Given the description of an element on the screen output the (x, y) to click on. 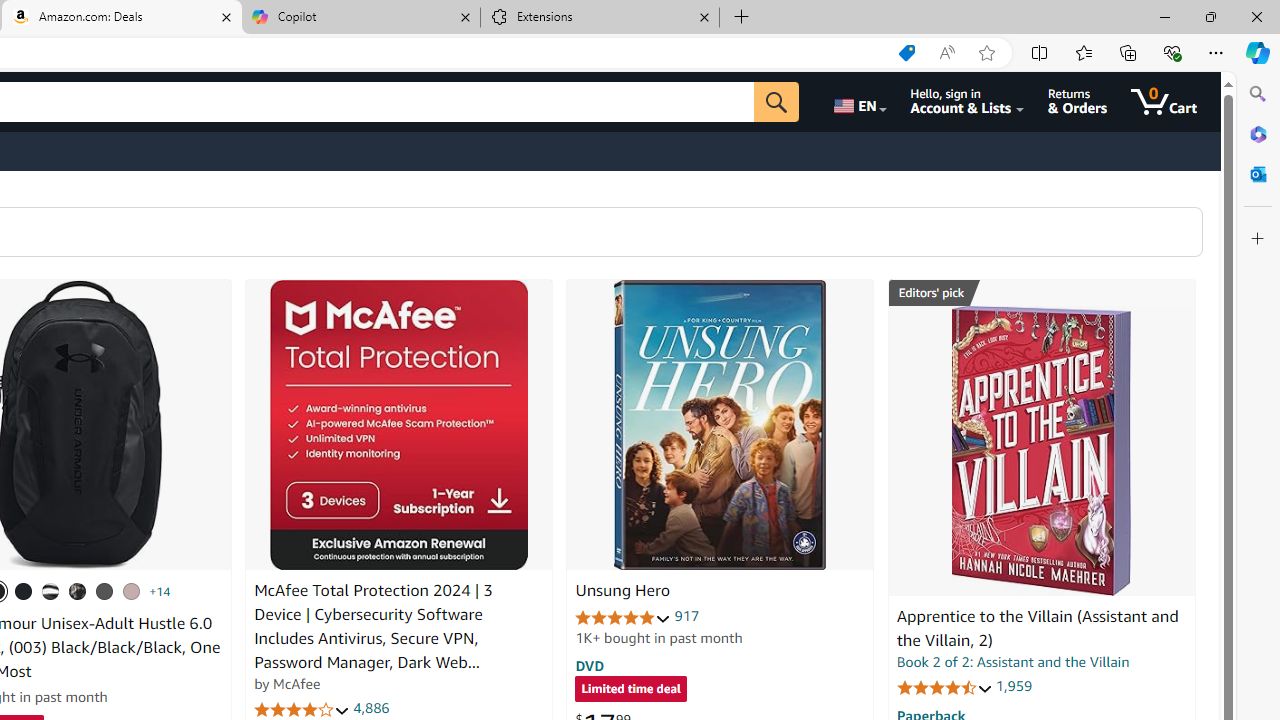
1,959 (1013, 686)
Choose a language for shopping. (858, 101)
